Given the description of an element on the screen output the (x, y) to click on. 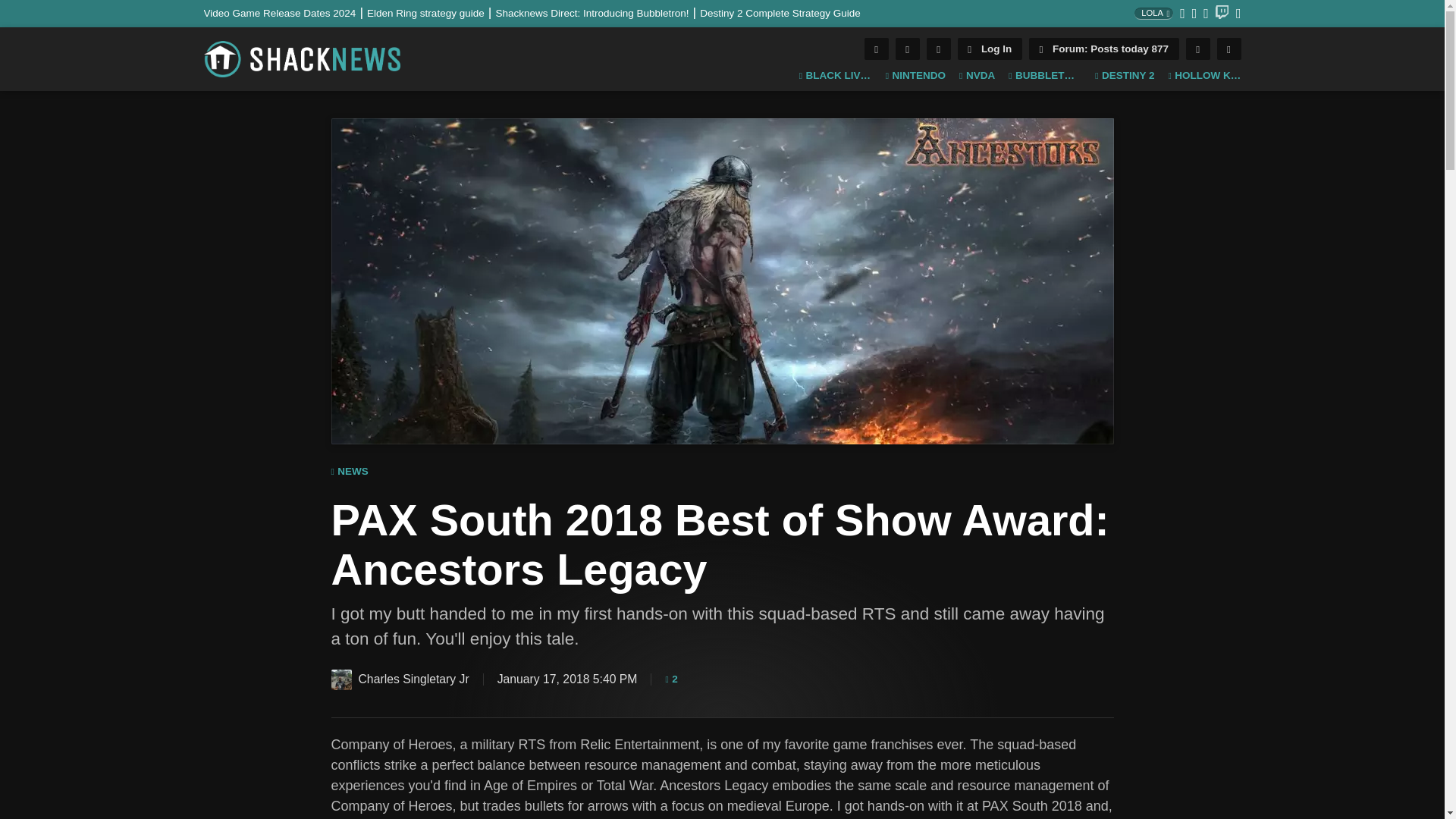
BLACK LIVES MATTER (835, 75)
NVDA (976, 75)
DESTINY 2 (1124, 75)
Destiny 2 Complete Strategy Guide (780, 11)
Shacknews Direct: Introducing Bubbletron! (597, 11)
Elden Ring strategy guide (430, 11)
HOLLOW KNIGHT: SILKSONG (1203, 75)
BUBBLETRON (1045, 75)
Video Game Release Dates 2024 (284, 11)
